Given the description of an element on the screen output the (x, y) to click on. 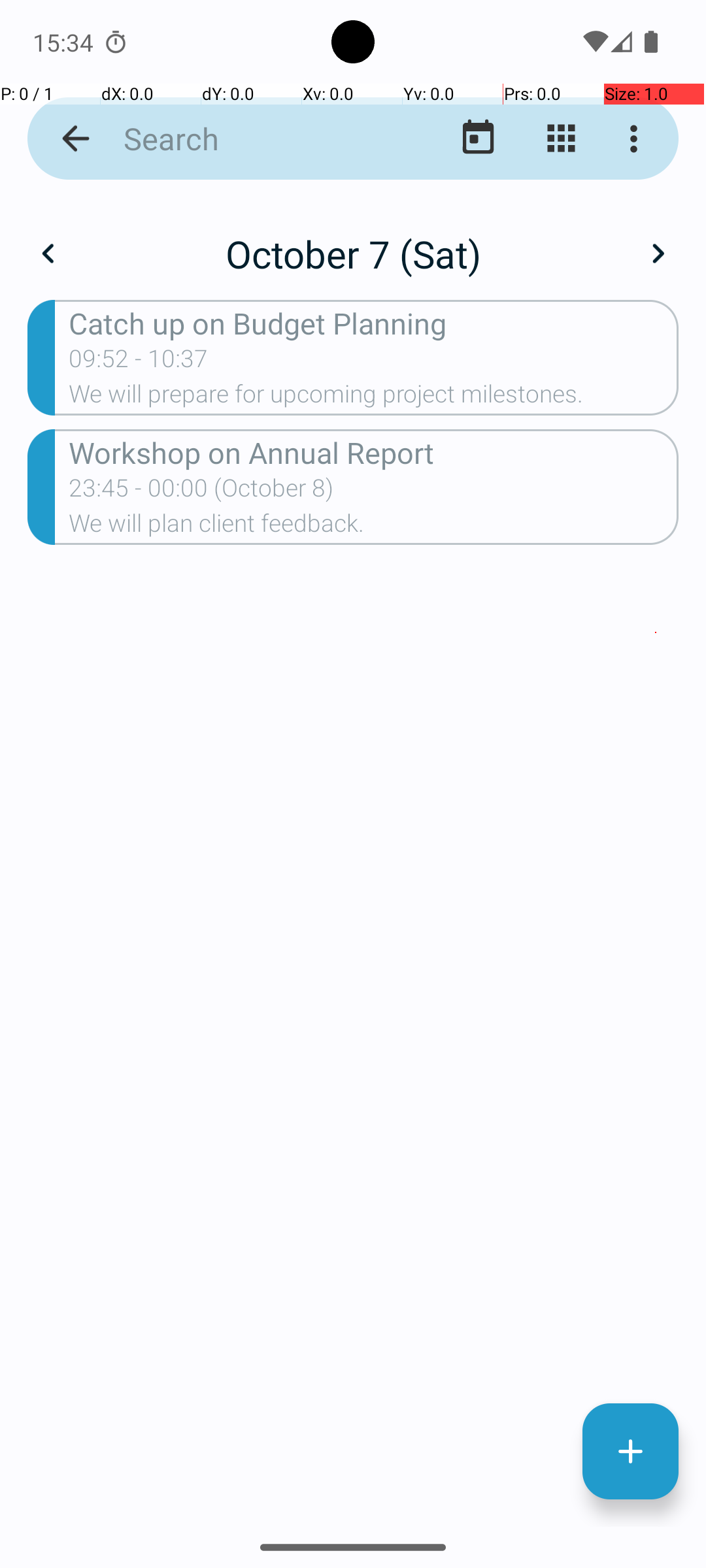
October 7 (Sat) Element type: android.widget.TextView (352, 253)
09:52 - 10:37 Element type: android.widget.TextView (137, 362)
We will prepare for upcoming project milestones. Element type: android.widget.TextView (373, 397)
23:45 - 00:00 (October 8) Element type: android.widget.TextView (200, 491)
We will plan client feedback. Element type: android.widget.TextView (373, 526)
